Given the description of an element on the screen output the (x, y) to click on. 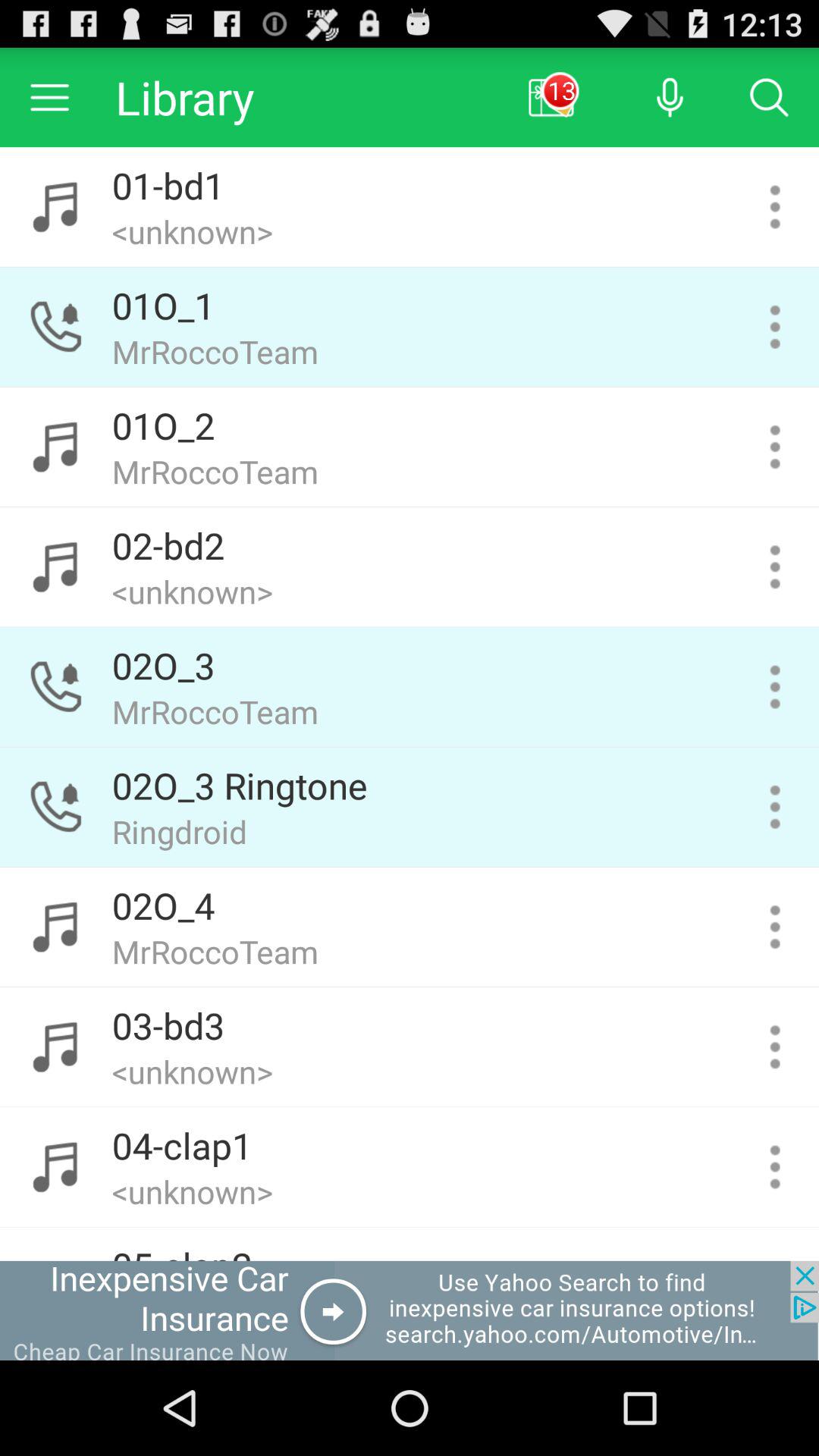
get more details (775, 806)
